Given the description of an element on the screen output the (x, y) to click on. 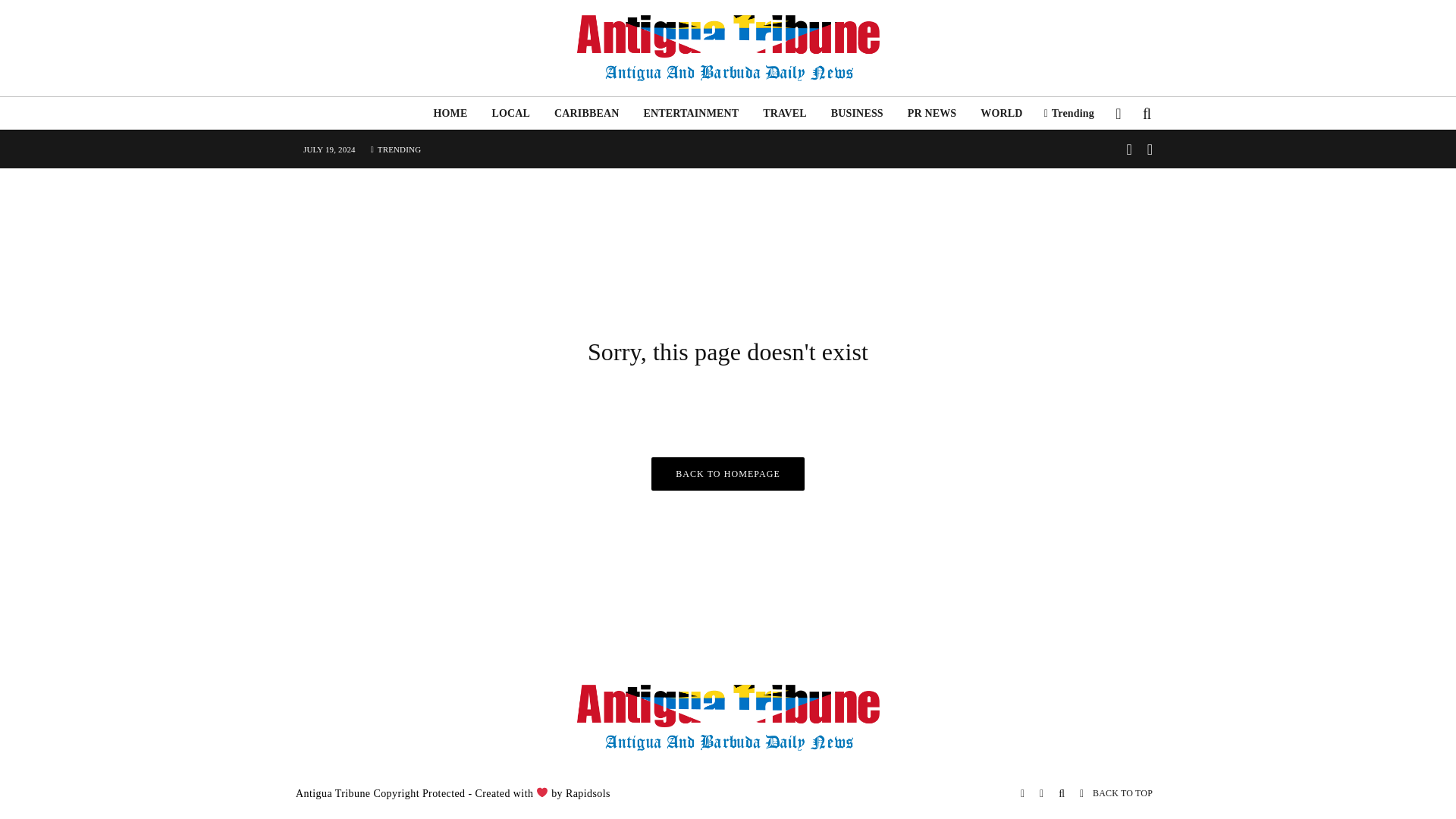
HOME (449, 113)
ENTERTAINMENT (690, 113)
LOCAL (510, 113)
TRAVEL (784, 113)
CARIBBEAN (585, 113)
